Given the description of an element on the screen output the (x, y) to click on. 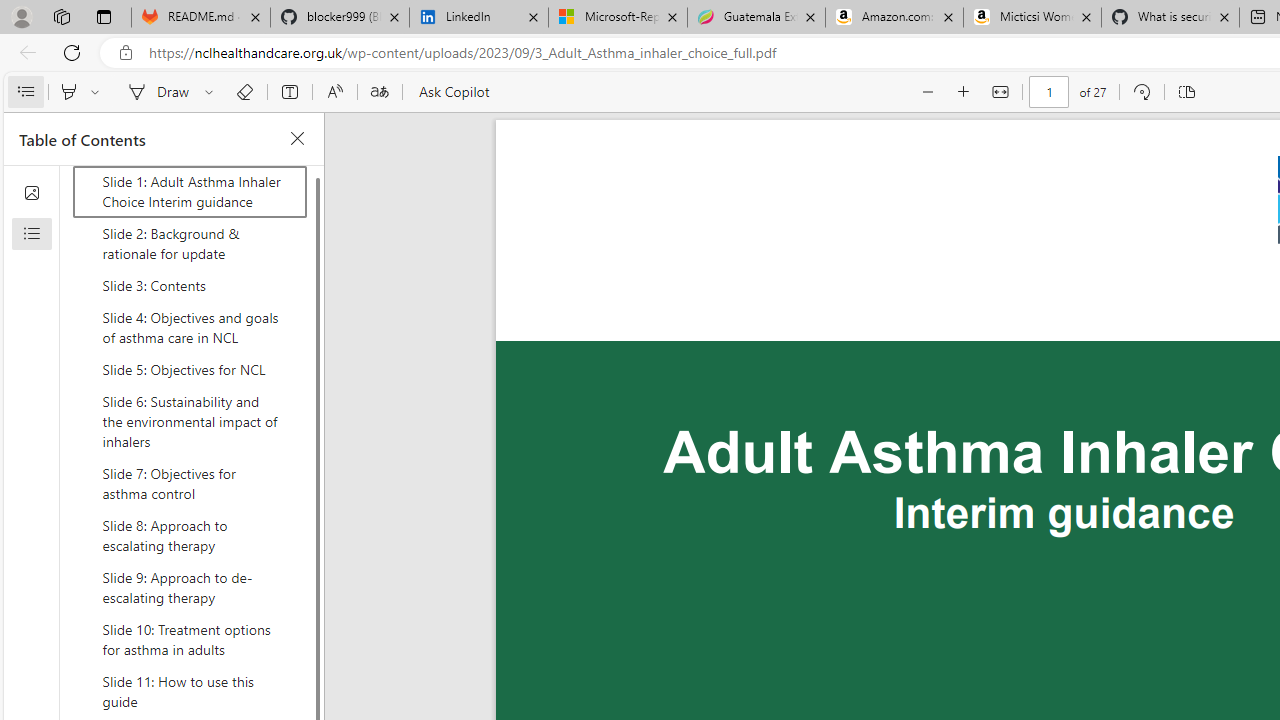
Rotate (Ctrl+]) (1140, 92)
Erase (244, 92)
Add text (289, 92)
Select ink properties (212, 92)
Translate (379, 92)
Page view (1185, 92)
